Given the description of an element on the screen output the (x, y) to click on. 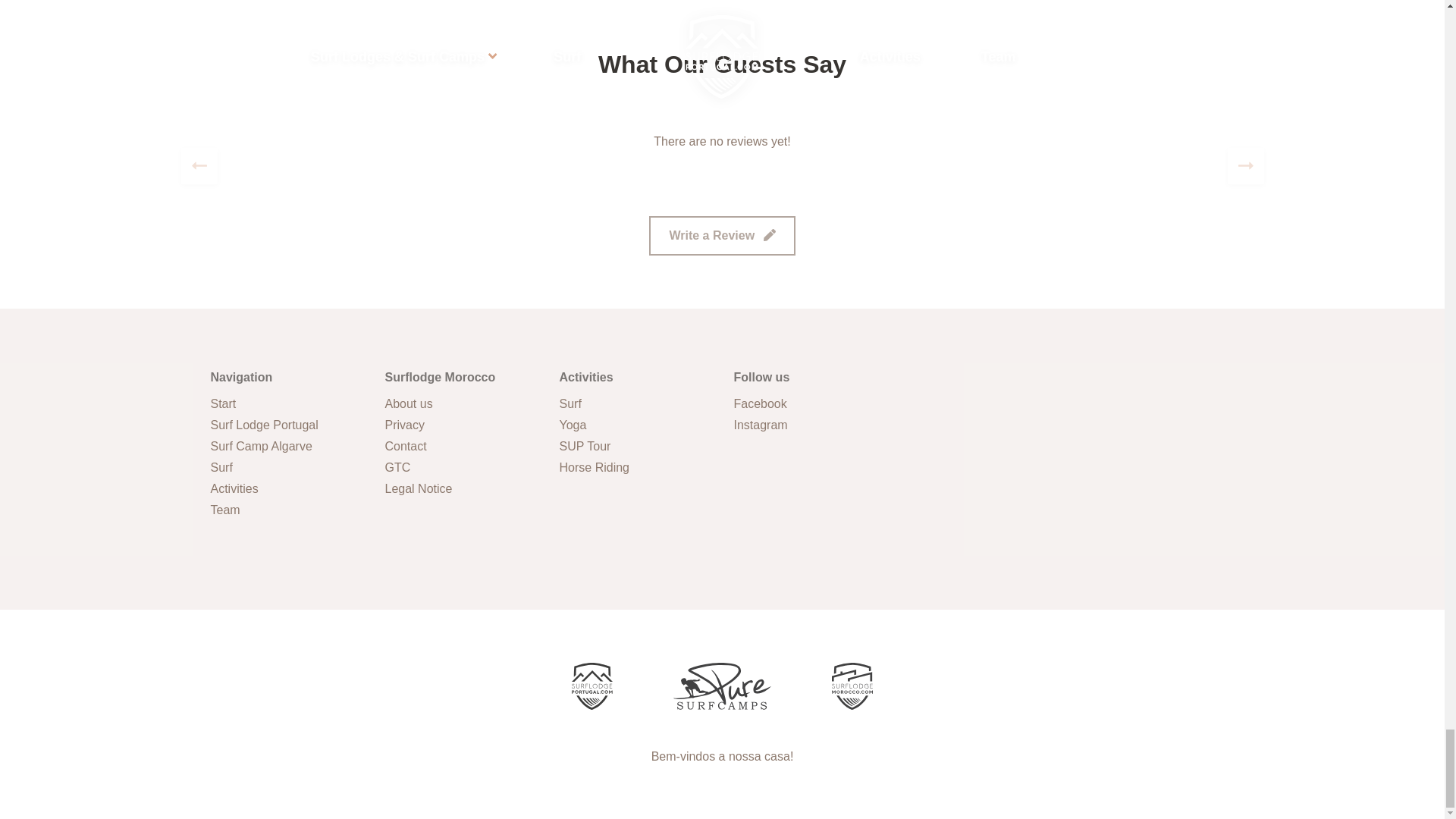
Write a Review (721, 235)
